Given the description of an element on the screen output the (x, y) to click on. 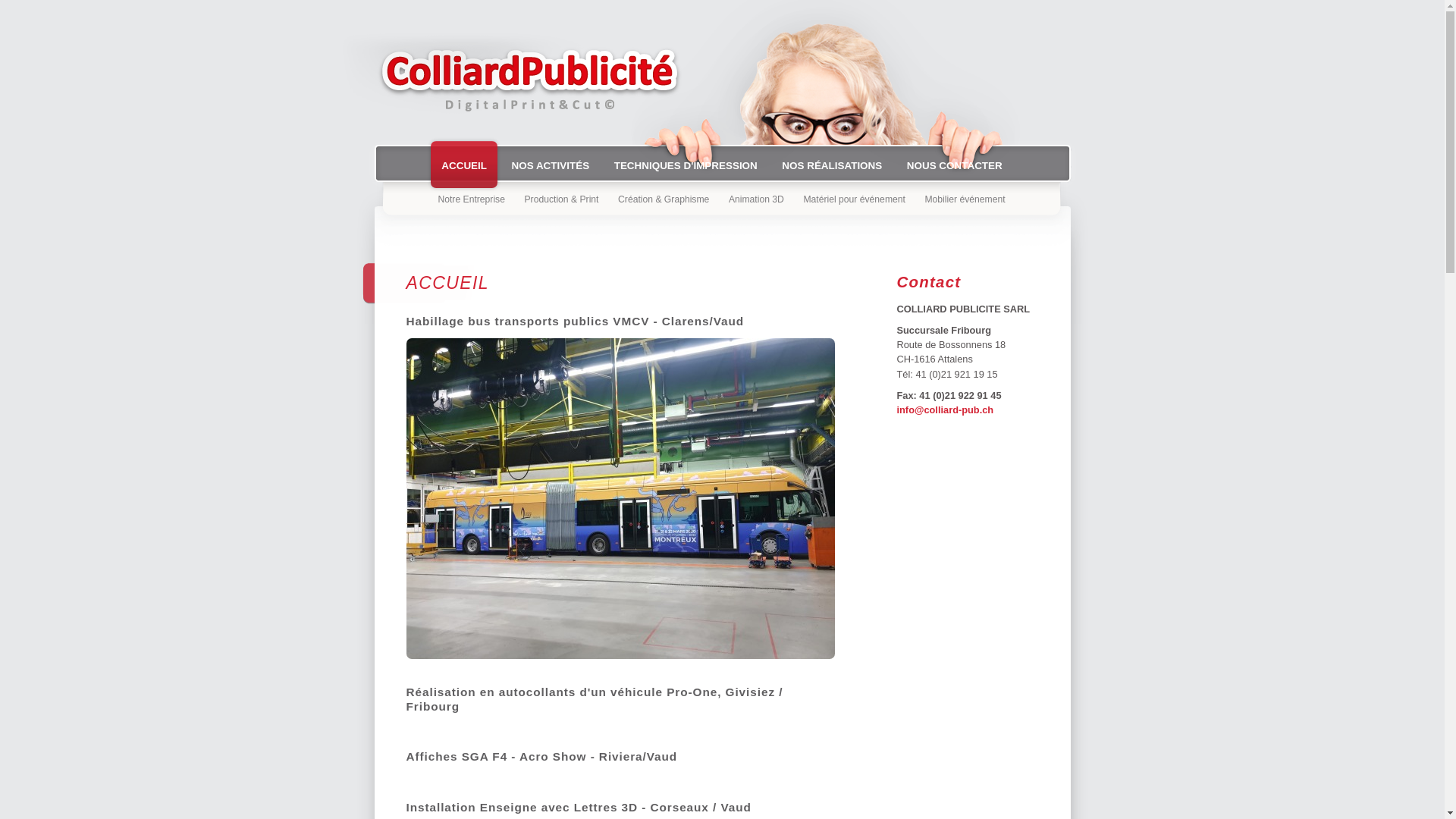
info@colliard-pub.ch Element type: text (944, 409)
NOUS CONTACTER Element type: text (954, 164)
Animation 3D Element type: text (756, 198)
Notre Entreprise Element type: text (471, 198)
TECHNIQUES D'IMPRESSION Element type: text (685, 164)
colliard-pub.ch Element type: text (514, 81)
ACCUEIL Element type: text (463, 164)
Production & Print Element type: text (561, 198)
